Given the description of an element on the screen output the (x, y) to click on. 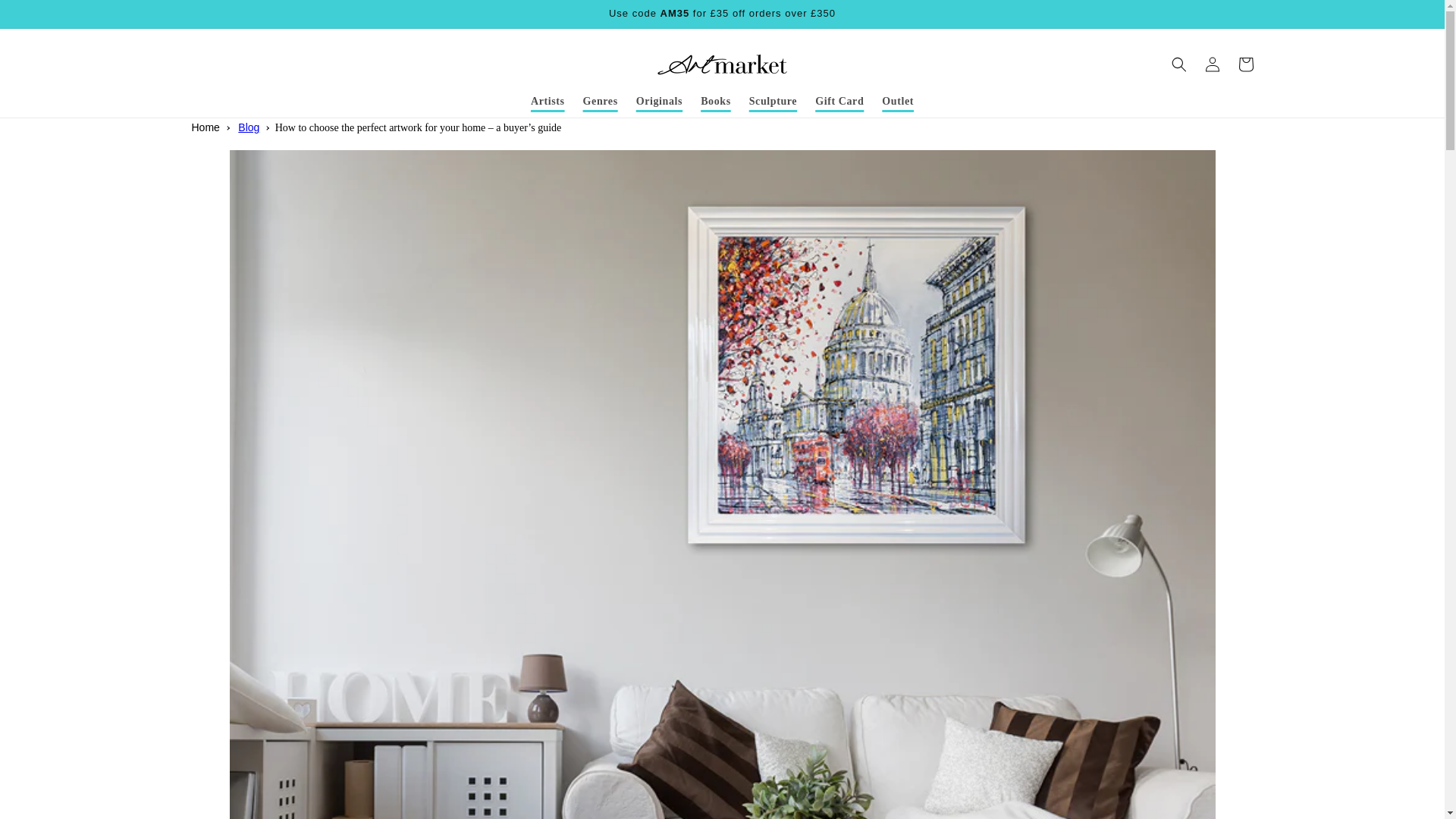
Genres (600, 101)
Skip to content (45, 17)
Home (204, 127)
Cart (1245, 64)
Outlet (897, 101)
Log in (1211, 64)
Gift Card (839, 101)
Originals (659, 101)
Books (715, 101)
Artists (547, 101)
Blog (248, 127)
Sculpture (772, 101)
